Given the description of an element on the screen output the (x, y) to click on. 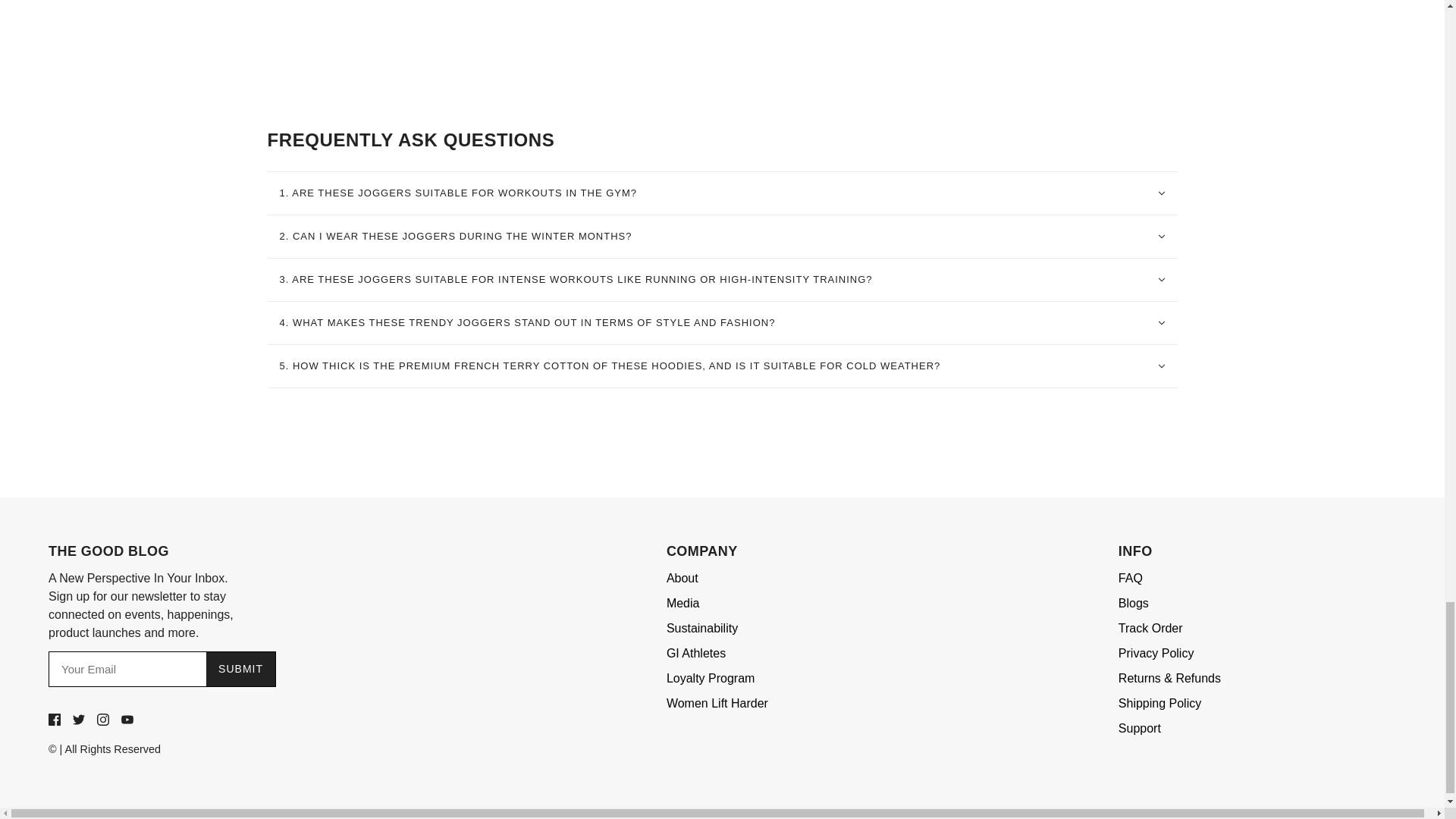
Support (1139, 728)
Loyalty Program (710, 678)
Track Order (1150, 628)
About (682, 578)
Shipping Policy (1159, 703)
FAQ (1130, 578)
GI Athletes (695, 653)
Sustainability (702, 628)
Women Lift Harder (717, 703)
Privacy Policy (1155, 653)
Blogs (1133, 603)
Media (683, 603)
